Given the description of an element on the screen output the (x, y) to click on. 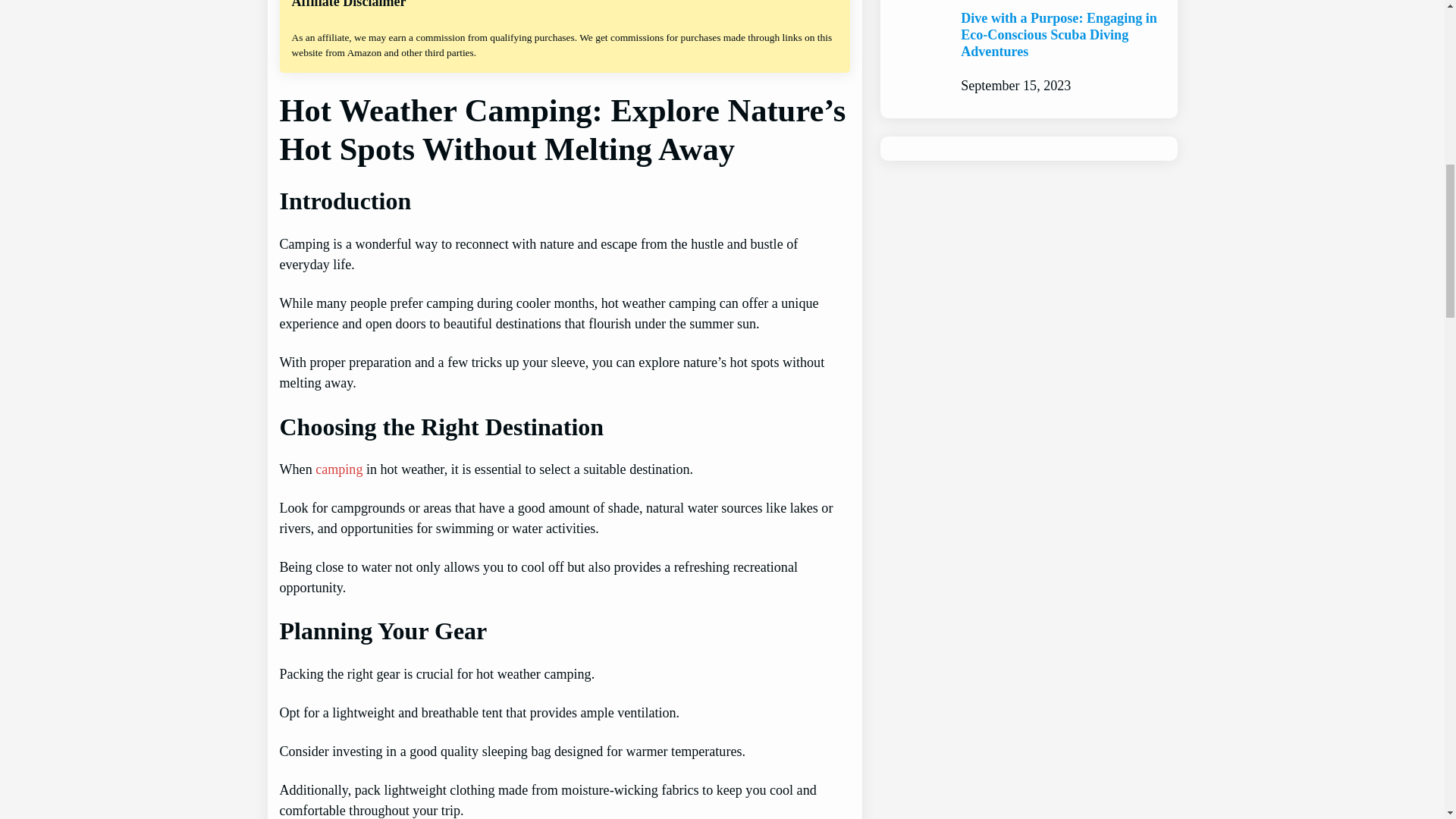
camping (338, 468)
camping (338, 468)
